Given the description of an element on the screen output the (x, y) to click on. 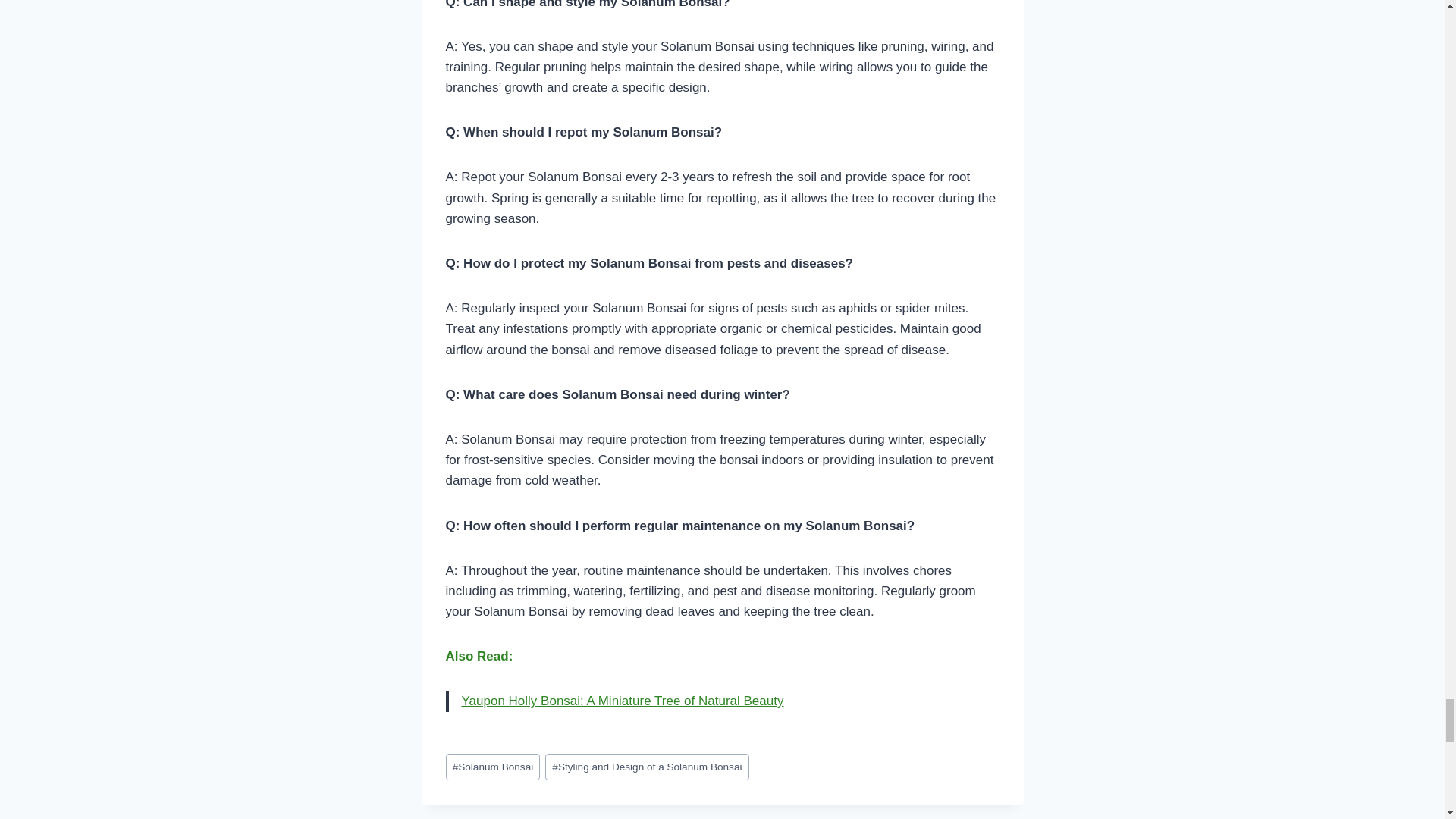
Yaupon Holly Bonsai: A Miniature Tree of Natural Beauty (622, 700)
